Given the description of an element on the screen output the (x, y) to click on. 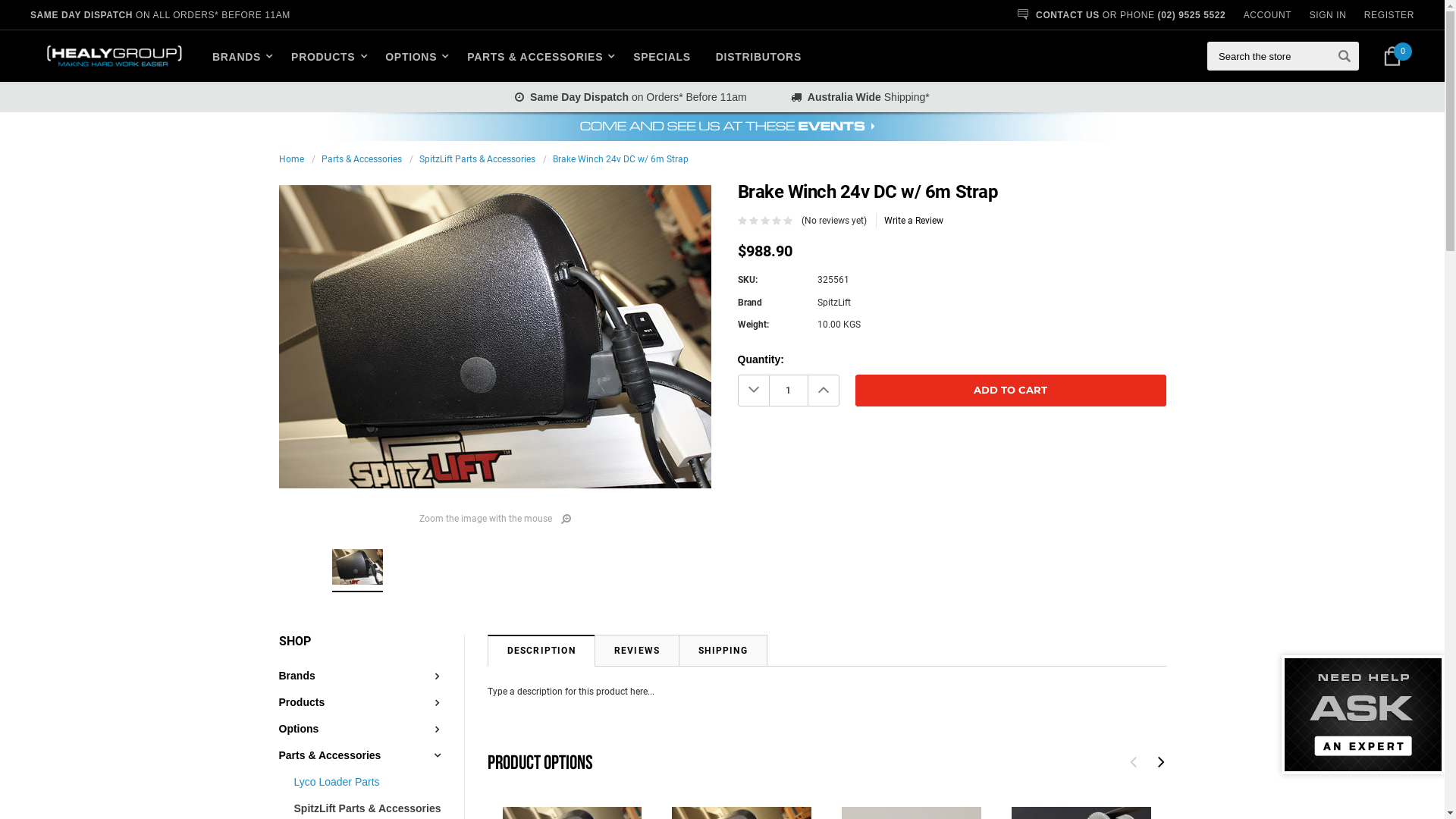
Options Element type: text (299, 729)
ACCOUNT Element type: text (1267, 14)
Lyco Loader Parts Element type: text (336, 782)
Add to Cart Element type: text (1010, 390)
Healy Group Element type: hover (113, 56)
SHIPPING Element type: text (722, 650)
Brake Winch 24v DC w/ 6m Strap Element type: text (619, 158)
DESCRIPTION Element type: text (540, 650)
Increase Quantity: Element type: text (822, 390)
0 Element type: text (1391, 55)
SIGN IN Element type: text (1327, 14)
SpitzLift Element type: text (833, 302)
BRANDS Element type: text (244, 56)
Products Element type: text (302, 702)
DISTRIBUTORS Element type: text (758, 56)
CONTACT US Element type: text (1067, 14)
Brake Winch 24v DC w/ 6m Strap Element type: hover (495, 336)
Parts & Accessories Element type: text (361, 158)
Brake Winch 24v DC w/ 6m Strap Element type: hover (357, 566)
Decrease Quantity: Element type: text (752, 390)
SpitzLift Parts & Accessories Element type: text (476, 158)
SPECIALS Element type: text (661, 56)
(02) 9525 5522 Element type: text (1191, 14)
Write a Review Element type: text (913, 220)
OPTIONS Element type: text (413, 56)
SpitzLift Parts & Accessories Element type: text (367, 808)
PRODUCTS Element type: text (325, 56)
REGISTER Element type: text (1389, 14)
Parts & Accessories Element type: text (330, 755)
PARTS & ACCESSORIES Element type: text (537, 56)
Brands Element type: text (297, 676)
Home Element type: text (291, 158)
REVIEWS Element type: text (636, 650)
